Given the description of an element on the screen output the (x, y) to click on. 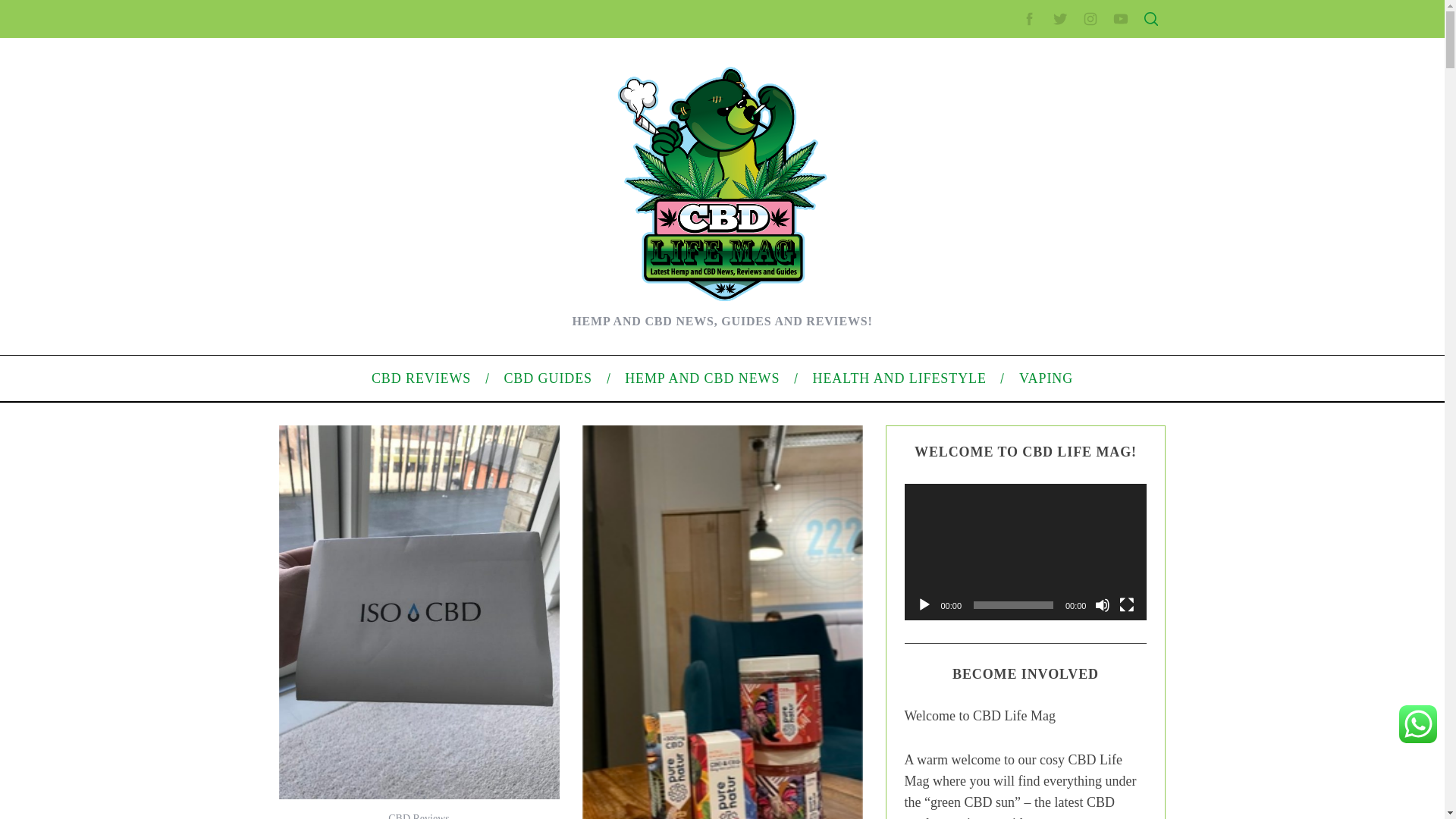
Search for: (1049, 47)
Disclaimer (990, 354)
ADMINISTRATOR (417, 118)
RSS (977, 612)
Search (1050, 85)
Contact Us (991, 258)
read here (474, 494)
DMCA Policy (996, 282)
Terms of Use (996, 330)
discover this (371, 458)
Privacy Policy (999, 306)
CUPCAKEDELIGHTS.CO.UK (433, 28)
Log in (980, 588)
Blog (976, 510)
August 2020 (996, 432)
